Given the description of an element on the screen output the (x, y) to click on. 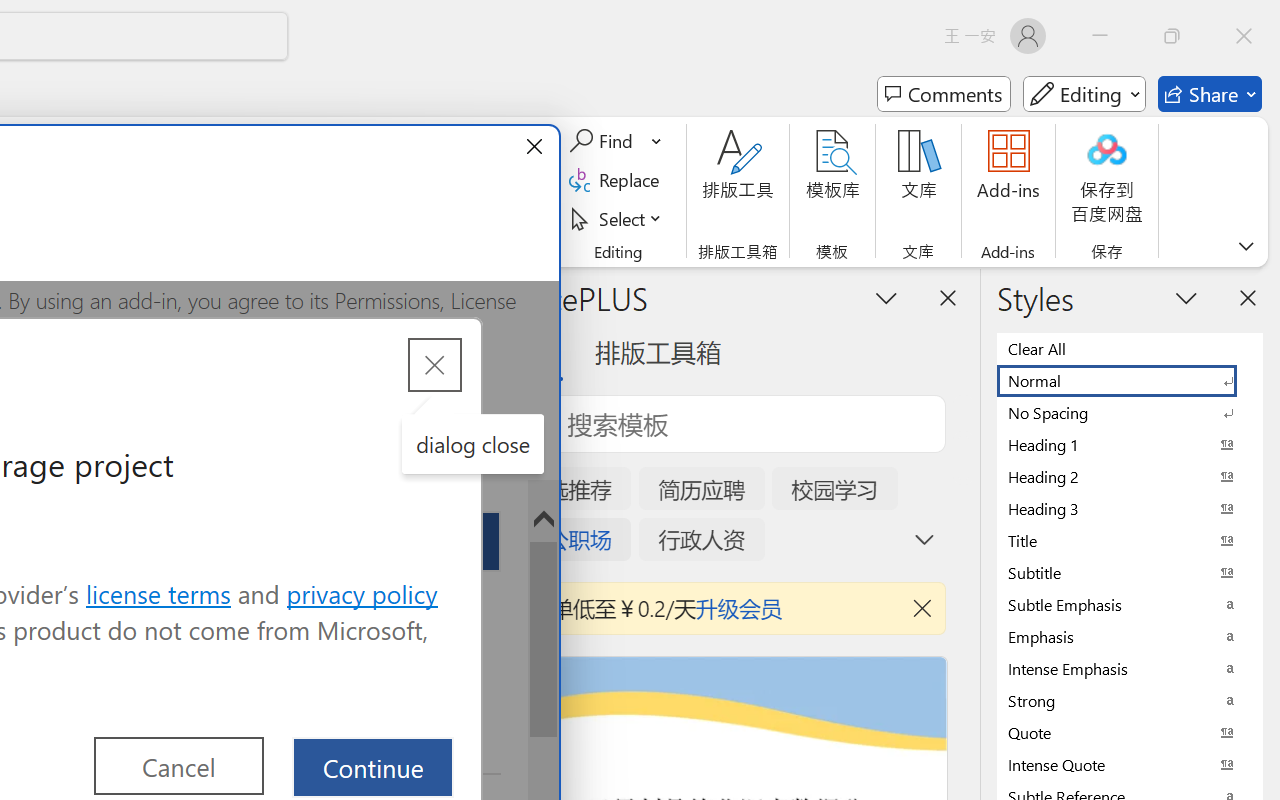
Clear All (1130, 348)
Intense Quote (1130, 764)
Heading 3 (1130, 508)
Ribbon Display Options (1246, 245)
